Given the description of an element on the screen output the (x, y) to click on. 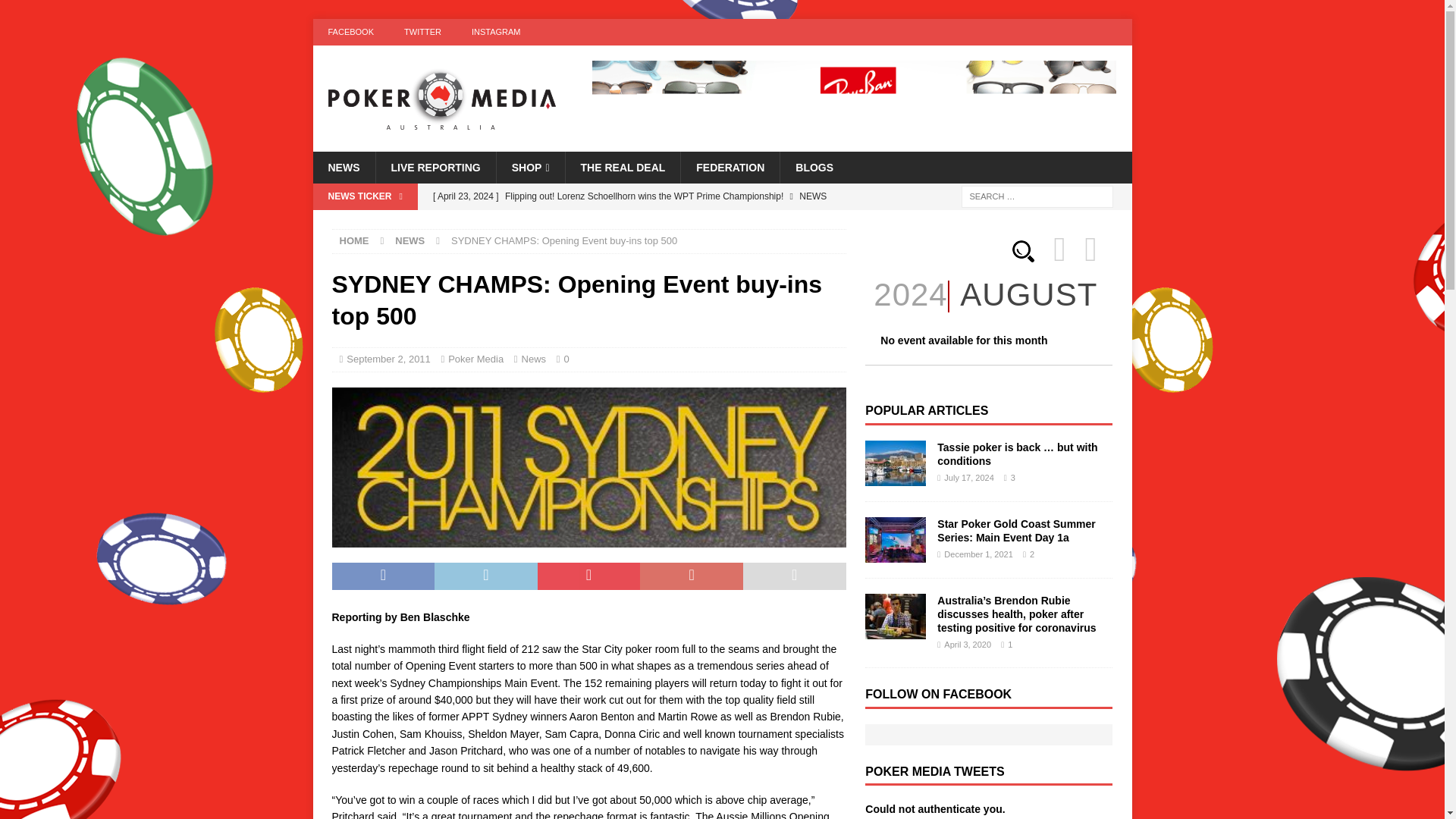
Western Star: Endersby riding the rush (634, 222)
BLOGS (813, 167)
NEWS (343, 167)
FEDERATION (728, 167)
SHOP (530, 167)
THE REAL DEAL (622, 167)
INSTAGRAM (496, 31)
FACEBOOK (350, 31)
LIVE REPORTING (434, 167)
TWITTER (422, 31)
